Given the description of an element on the screen output the (x, y) to click on. 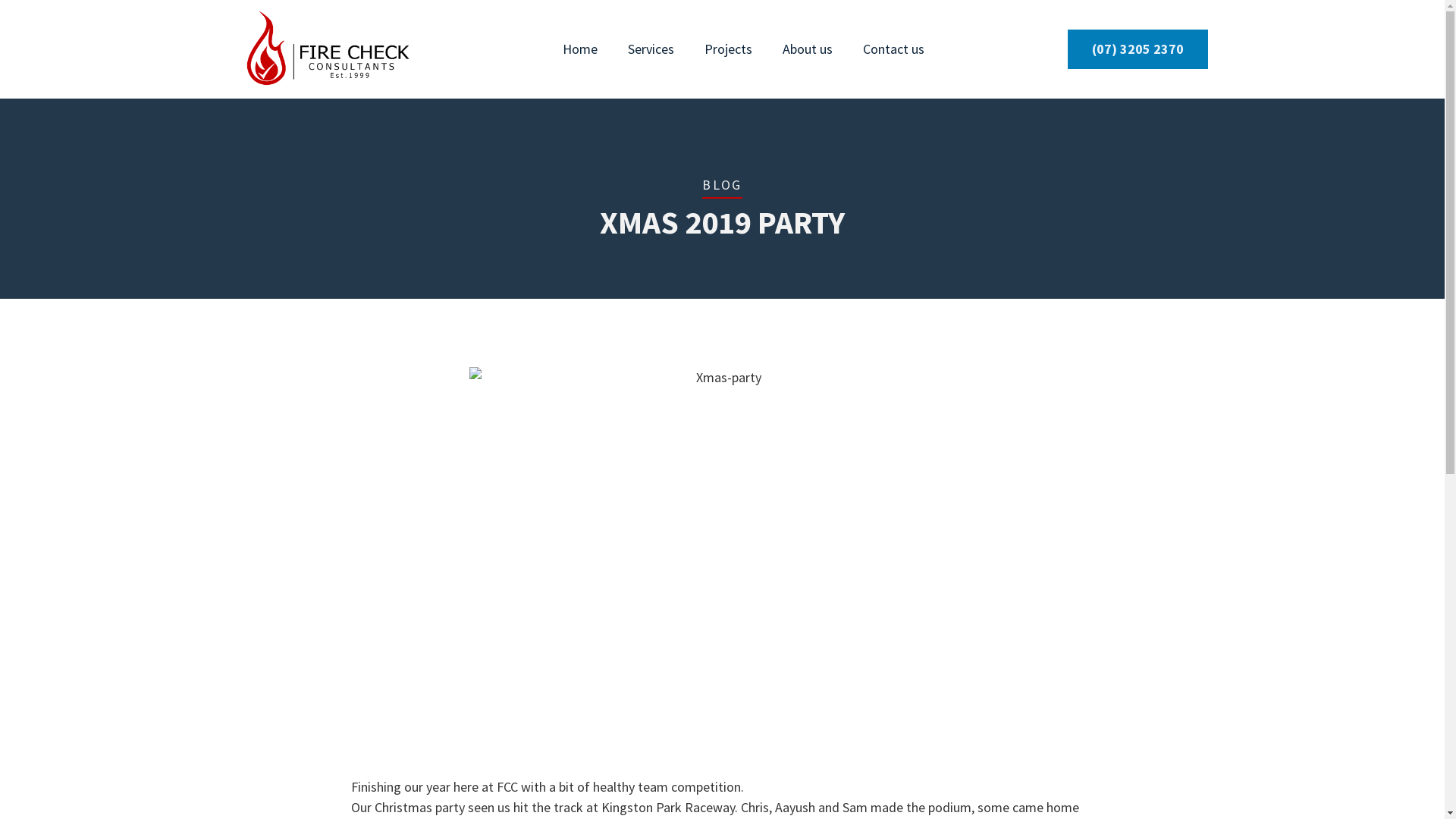
Xmas-party Element type: hover (721, 556)
Services Element type: text (650, 48)
Contact us Element type: text (893, 48)
(07) 3205 2370 Element type: text (1137, 49)
Projects Element type: text (727, 48)
About us Element type: text (807, 48)
Home Element type: text (579, 48)
BLOG Element type: text (721, 184)
